Given the description of an element on the screen output the (x, y) to click on. 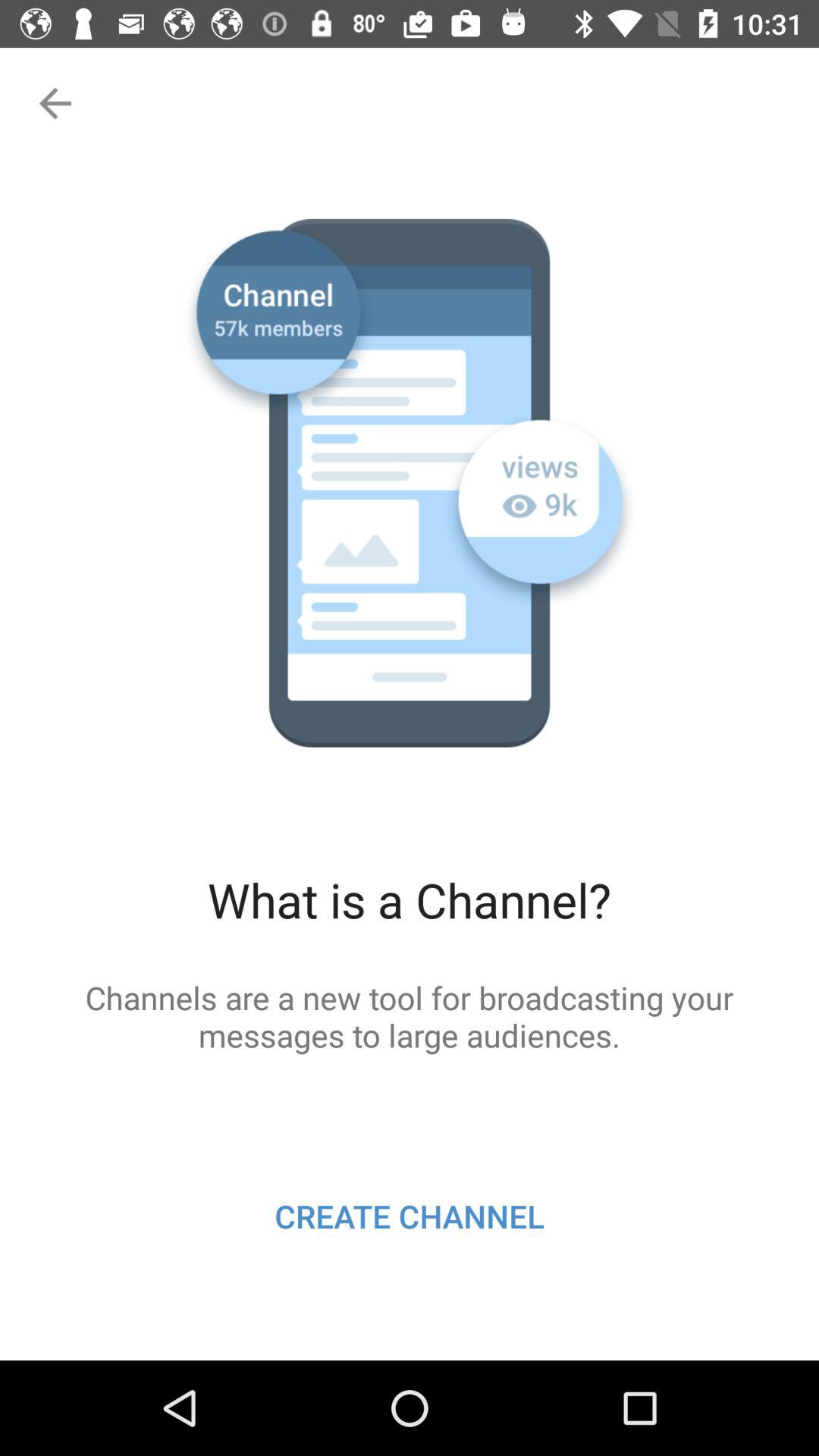
go to previous page (53, 103)
